Given the description of an element on the screen output the (x, y) to click on. 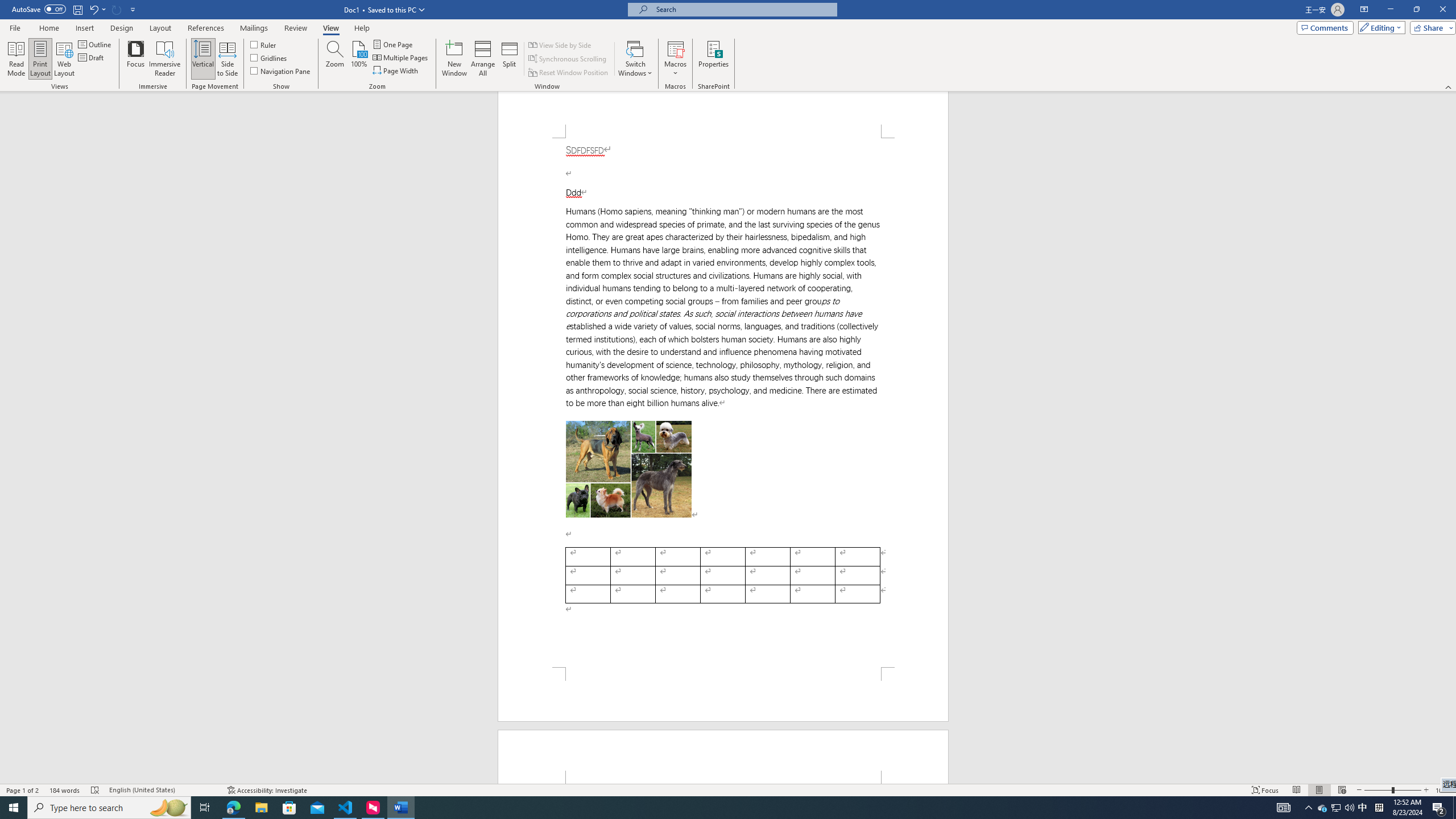
View Side by Side (561, 44)
Page 1 content (723, 402)
Immersive Reader (165, 58)
Gridlines (269, 56)
Editing (1379, 27)
Page Number Page 1 of 2 (22, 790)
100% (358, 58)
